Given the description of an element on the screen output the (x, y) to click on. 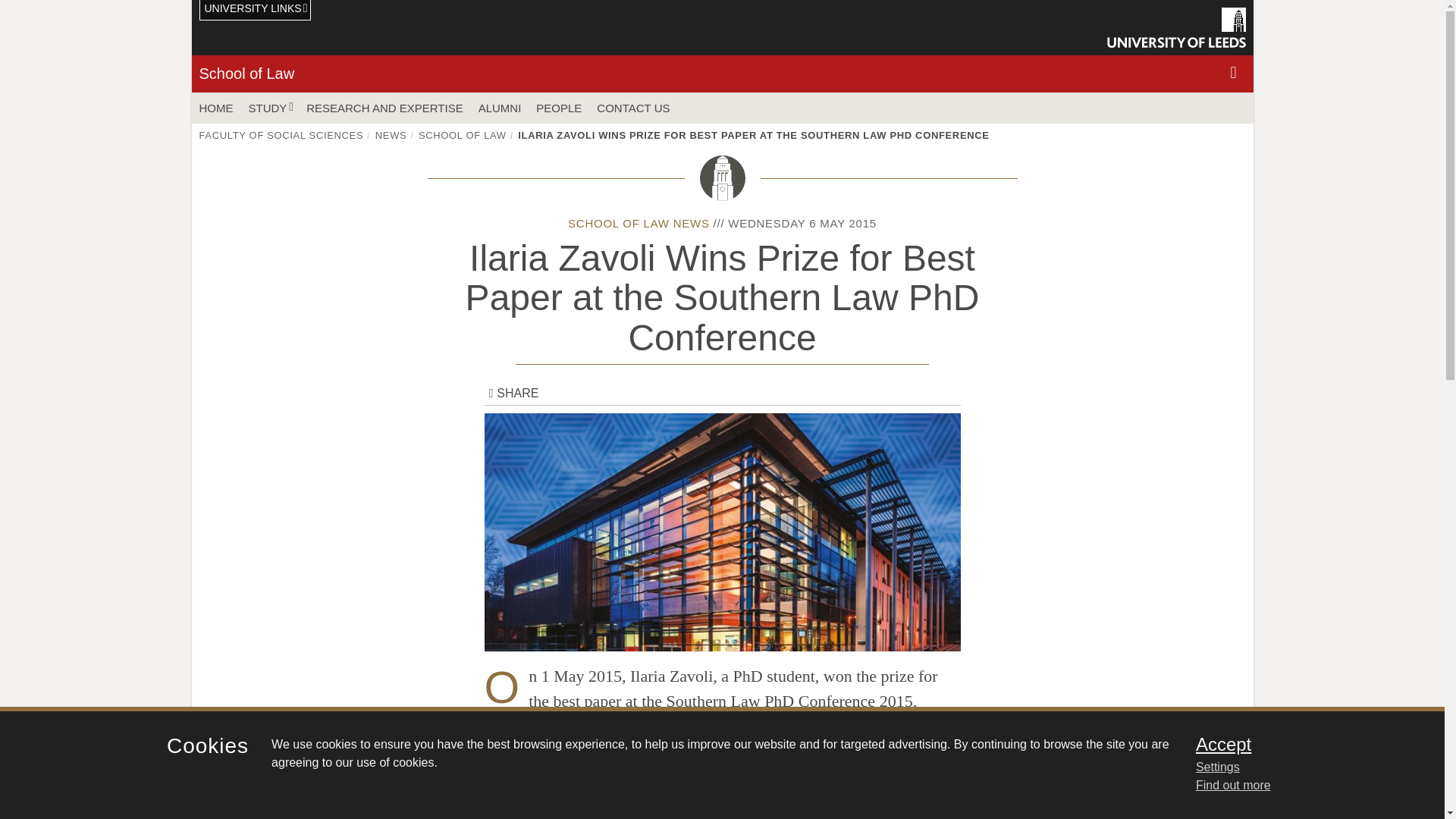
Accept (1300, 744)
Settings (1300, 767)
UNIVERSITY LINKS (254, 10)
Find out more (1233, 784)
University of Leeds homepage (1176, 27)
